Given the description of an element on the screen output the (x, y) to click on. 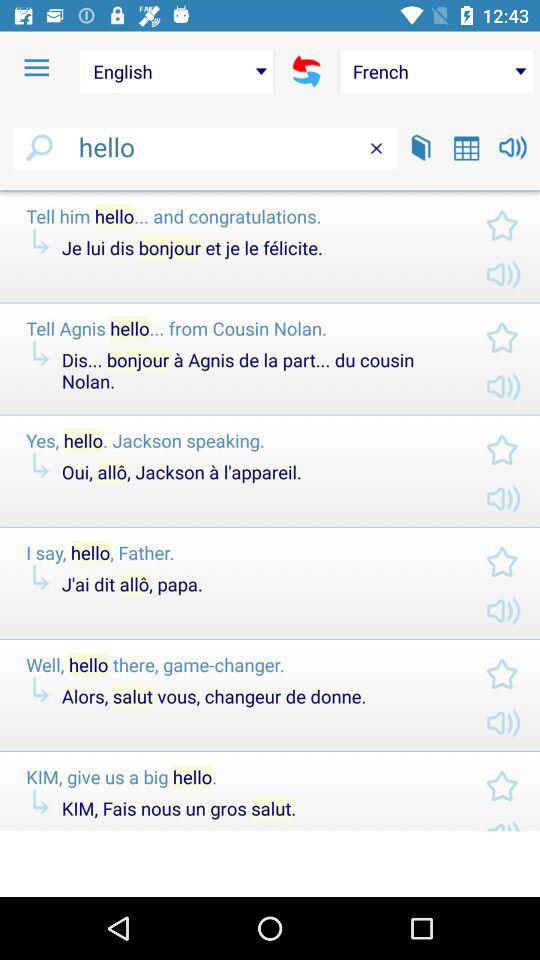
launch icon below the tell him hello icon (257, 247)
